Given the description of an element on the screen output the (x, y) to click on. 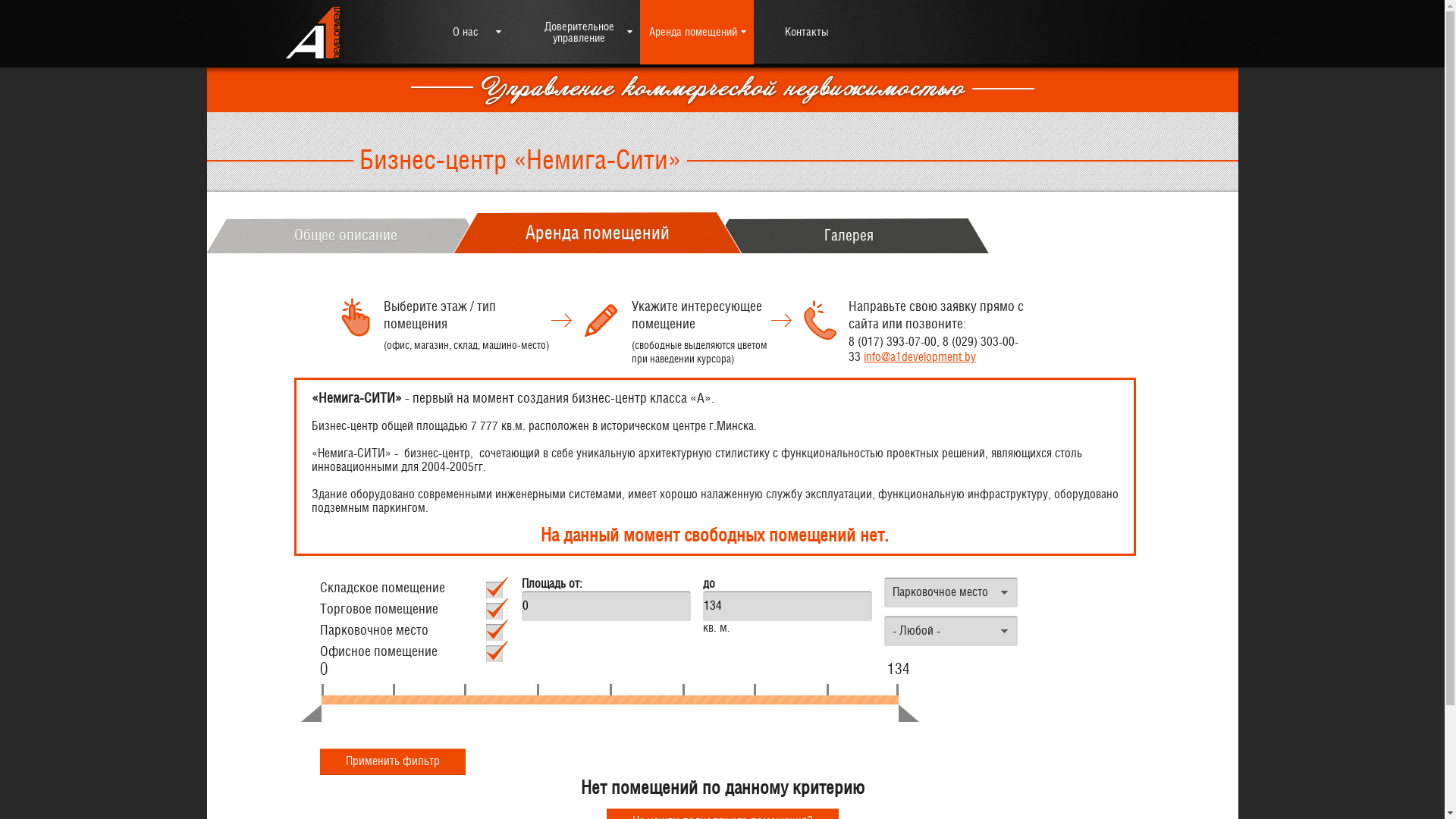
info@a1development.by Element type: text (919, 357)
